Given the description of an element on the screen output the (x, y) to click on. 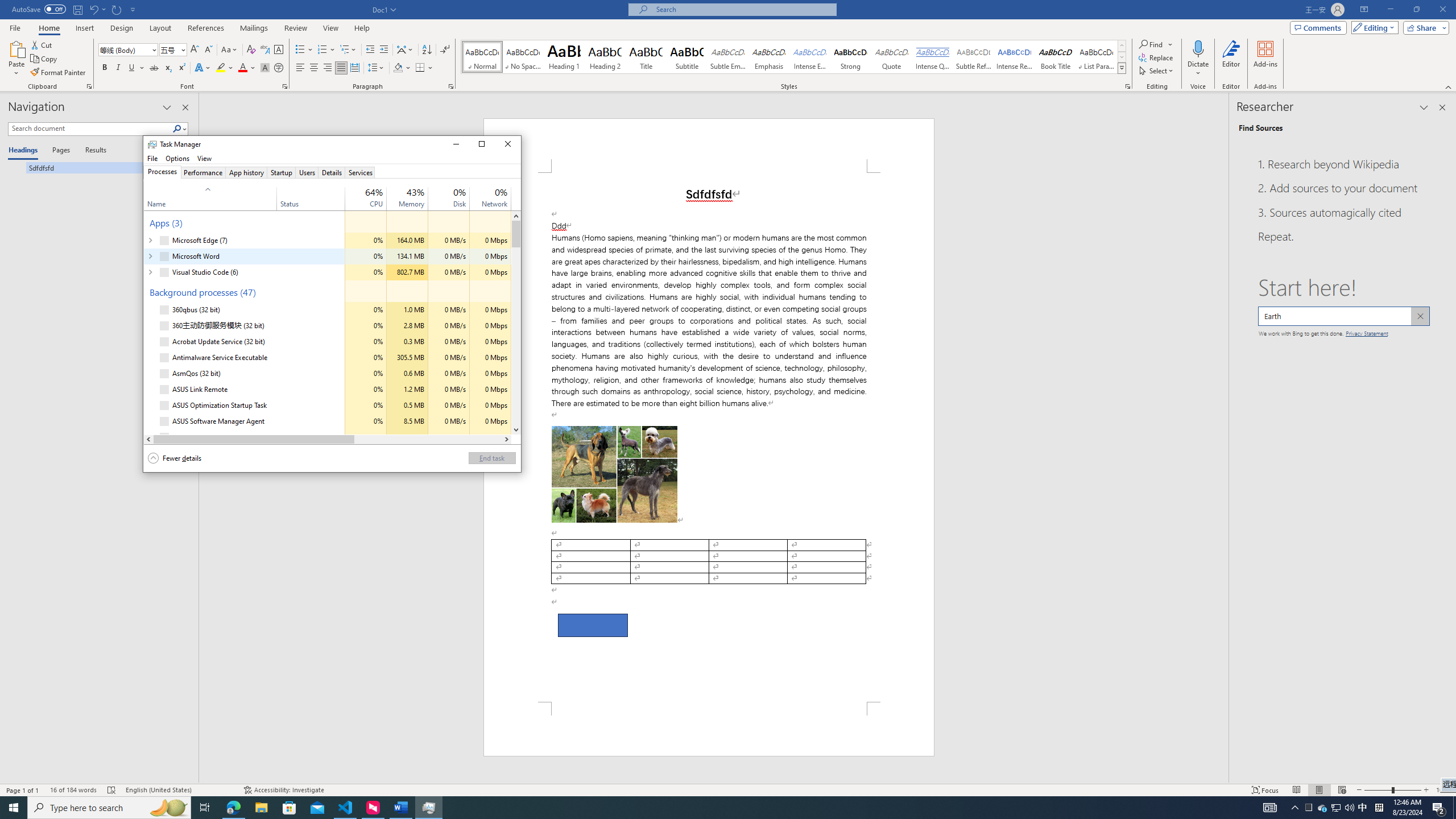
File Explorer (261, 807)
Heading 1 (564, 56)
Startup (281, 171)
Line up (516, 215)
